Given the description of an element on the screen output the (x, y) to click on. 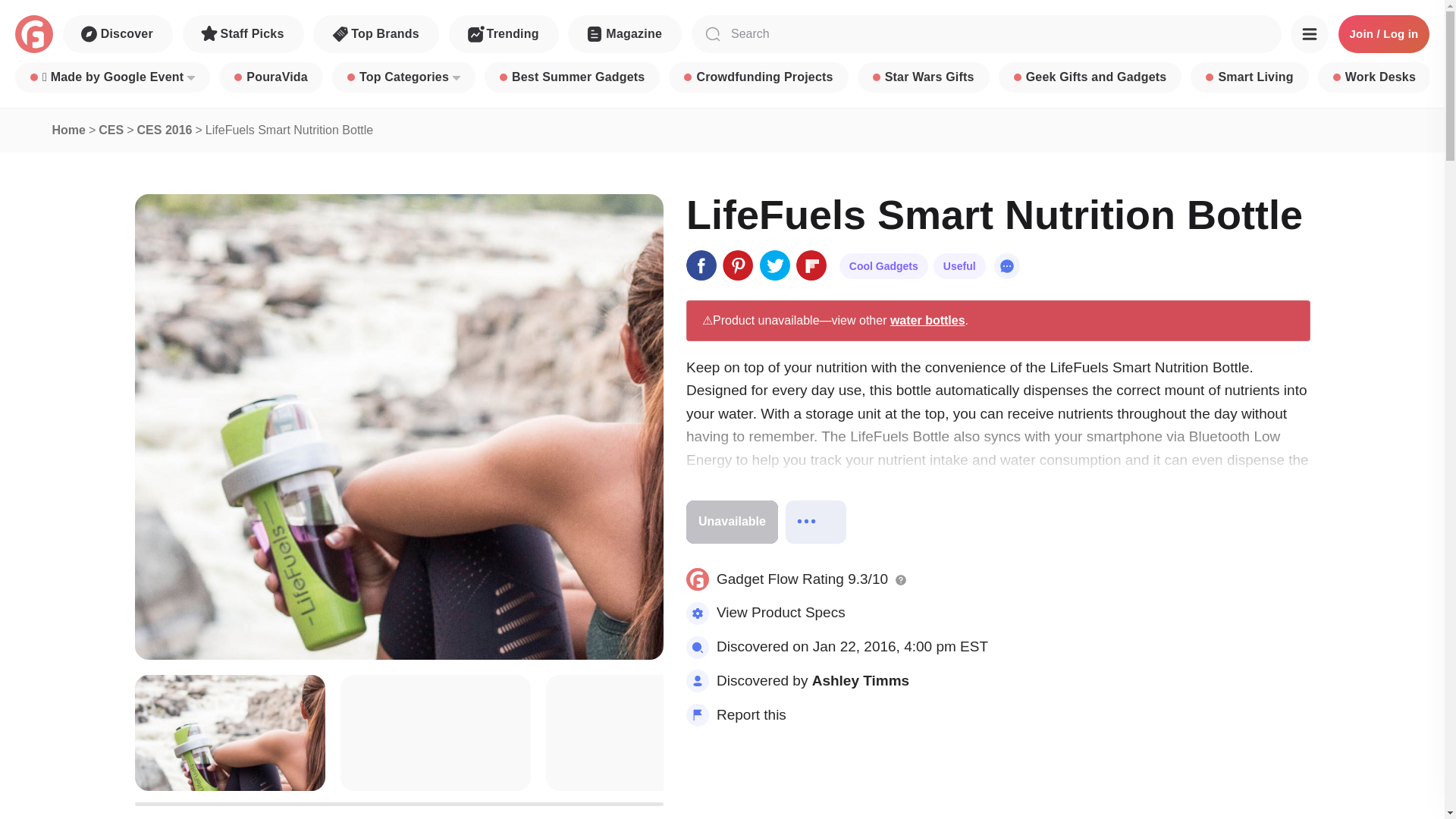
Crowdfunding Projects (757, 77)
Smart Living (1249, 77)
Gadget Flow (33, 34)
Trending (503, 34)
PouraVida (271, 77)
Discover (117, 34)
Top Brands (376, 34)
Geek Gifts and Gadgets (1090, 77)
Staff Picks (243, 34)
Work Desks (1374, 77)
